Given the description of an element on the screen output the (x, y) to click on. 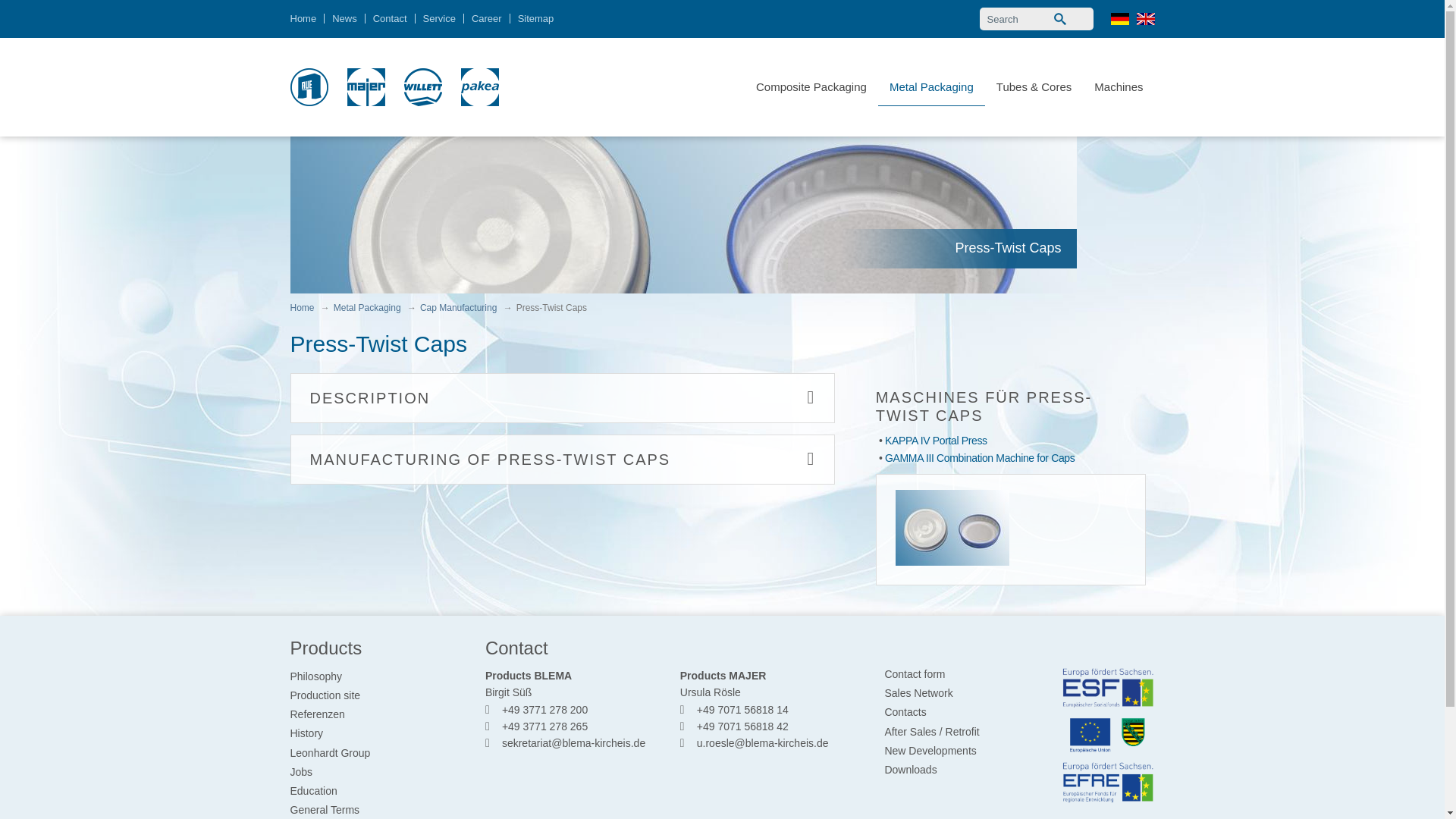
Composite Packaging (810, 86)
News (344, 18)
Englisch (1144, 19)
Home (306, 18)
Home (306, 18)
Sitemap (536, 18)
Metal Packaging (931, 86)
Service (438, 18)
Pakea (480, 86)
Startseite (308, 86)
